Given the description of an element on the screen output the (x, y) to click on. 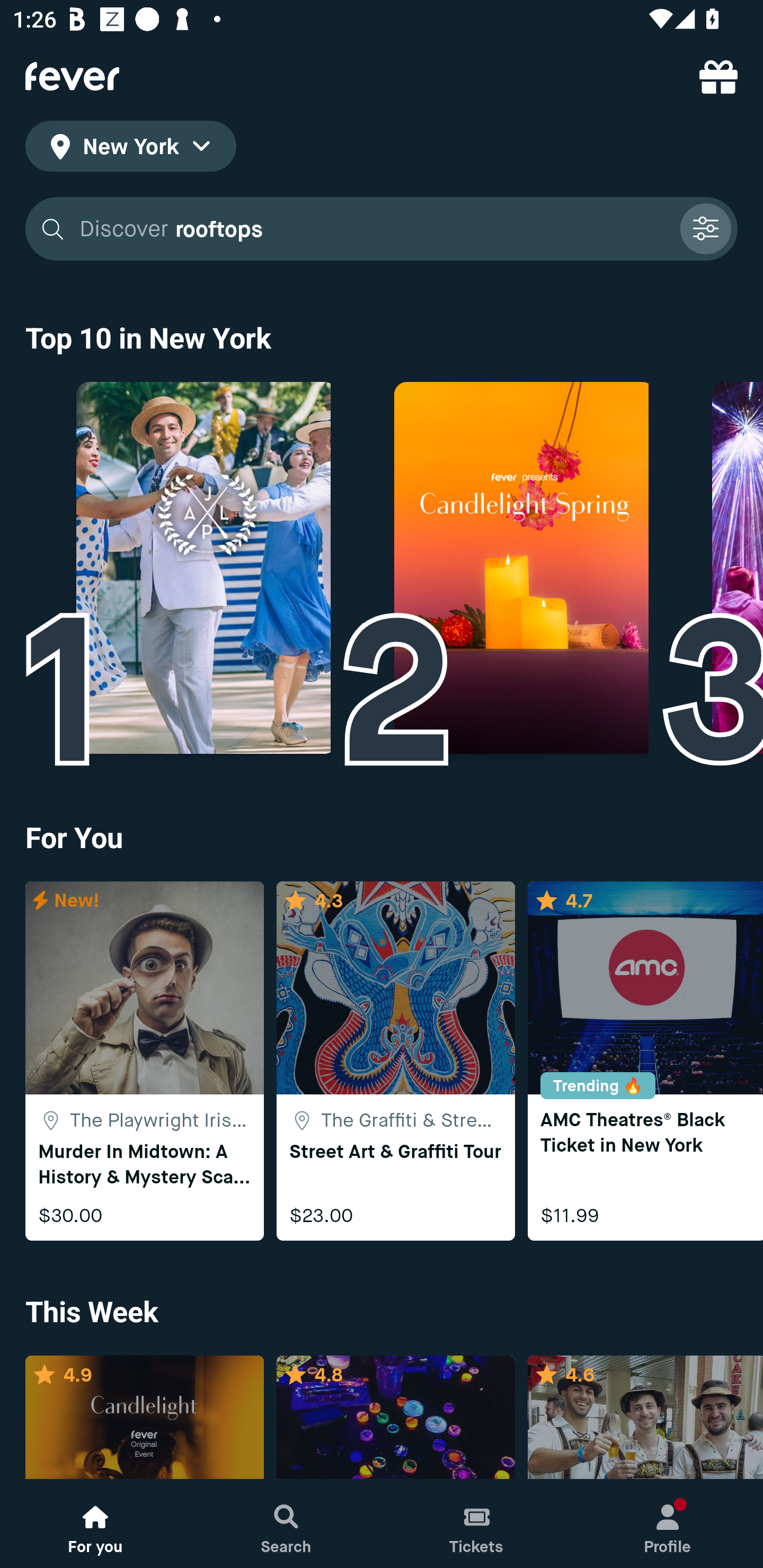
referral (718, 75)
location icon New York location icon (130, 149)
Discover rooftops (381, 228)
Discover rooftops (373, 228)
cover image 50.0 4.9 Fever exclusive (144, 1417)
cover image 50.0 4.8 (395, 1417)
cover image 50.0 4.6 (645, 1417)
Search (285, 1523)
Tickets (476, 1523)
Profile, New notification Profile (667, 1523)
